Given the description of an element on the screen output the (x, y) to click on. 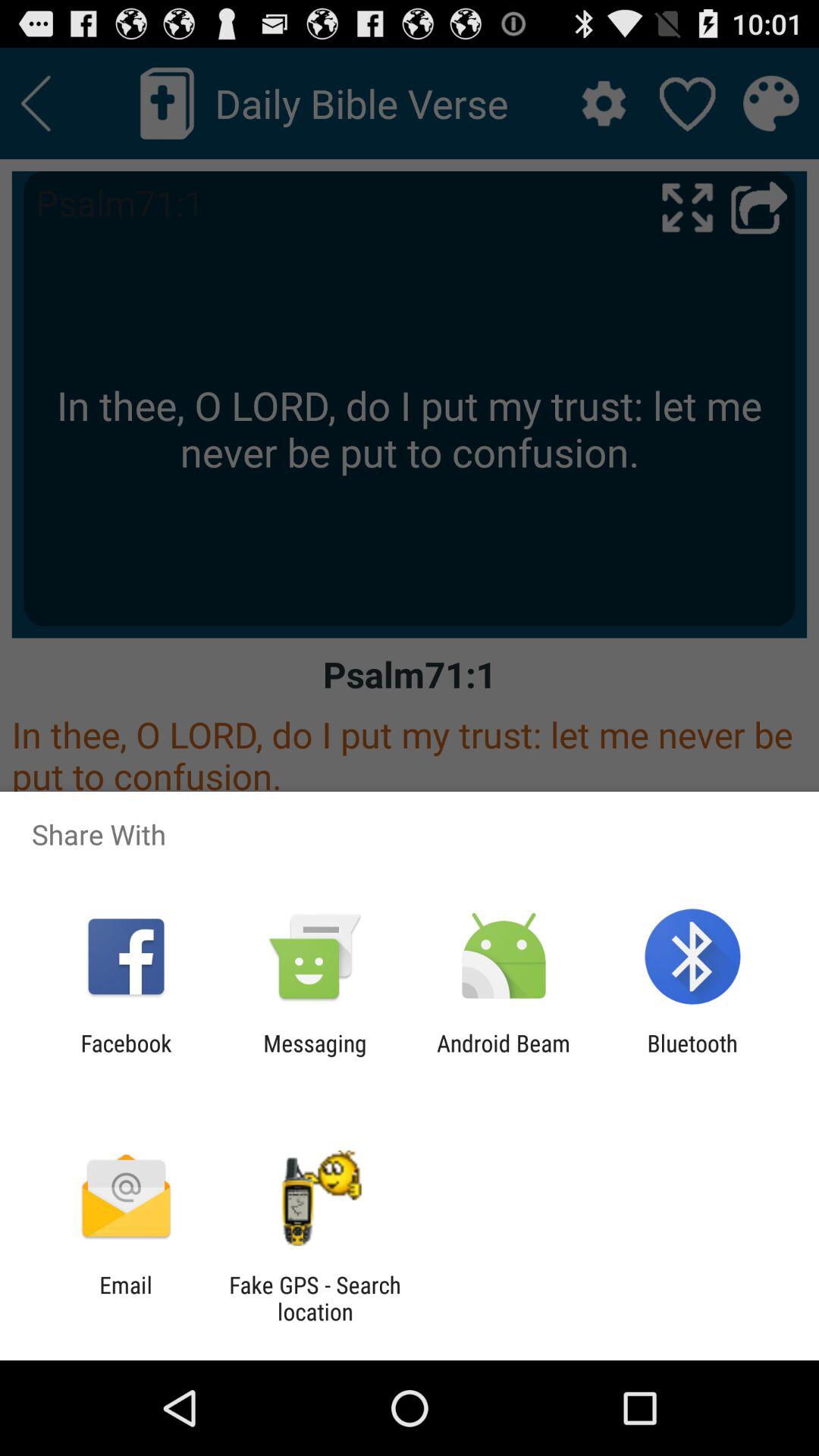
scroll until the android beam (503, 1056)
